Given the description of an element on the screen output the (x, y) to click on. 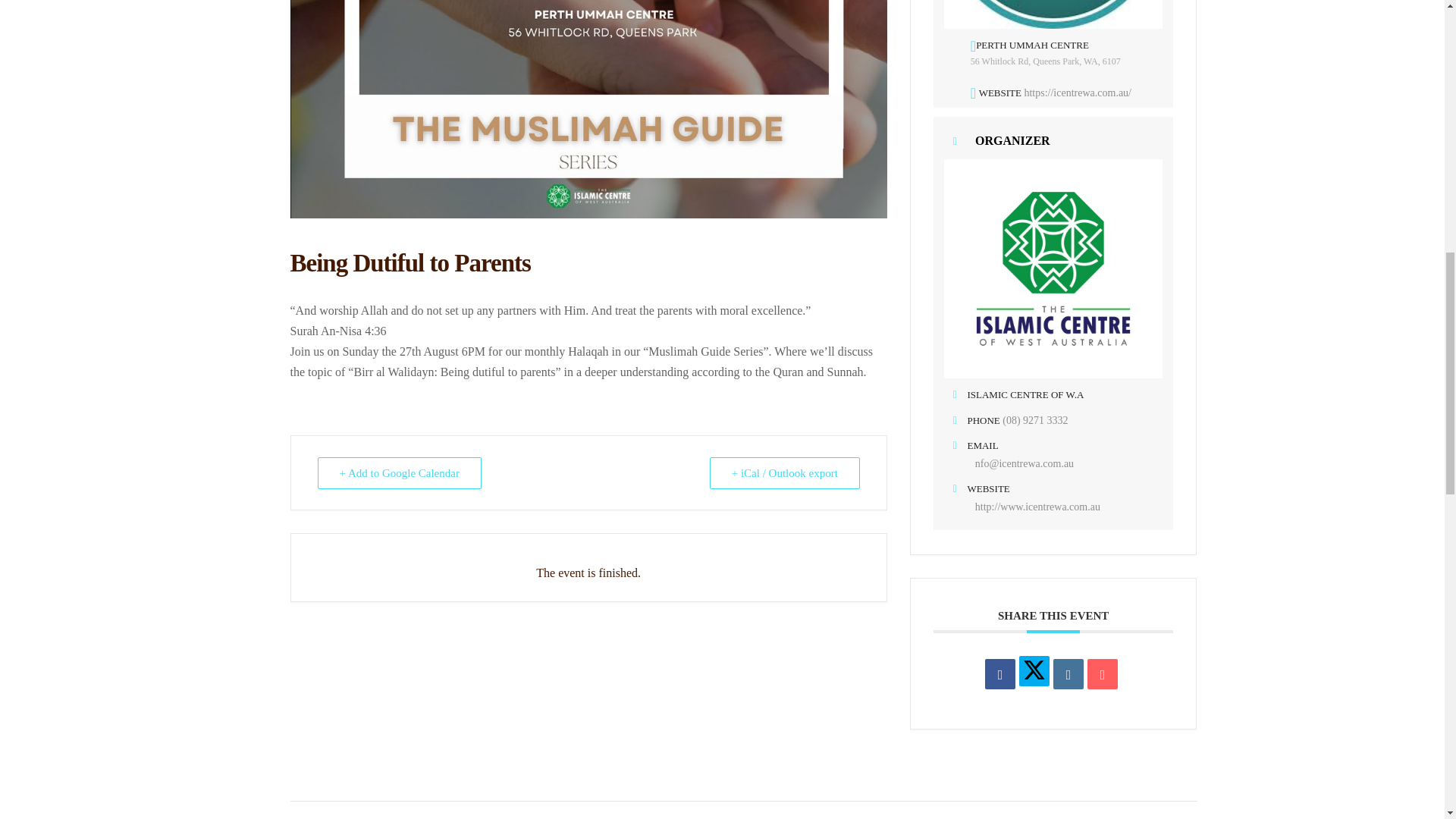
Linkedin (1067, 674)
X Social Network (1034, 671)
Email (1102, 674)
Share on Facebook (999, 674)
